Given the description of an element on the screen output the (x, y) to click on. 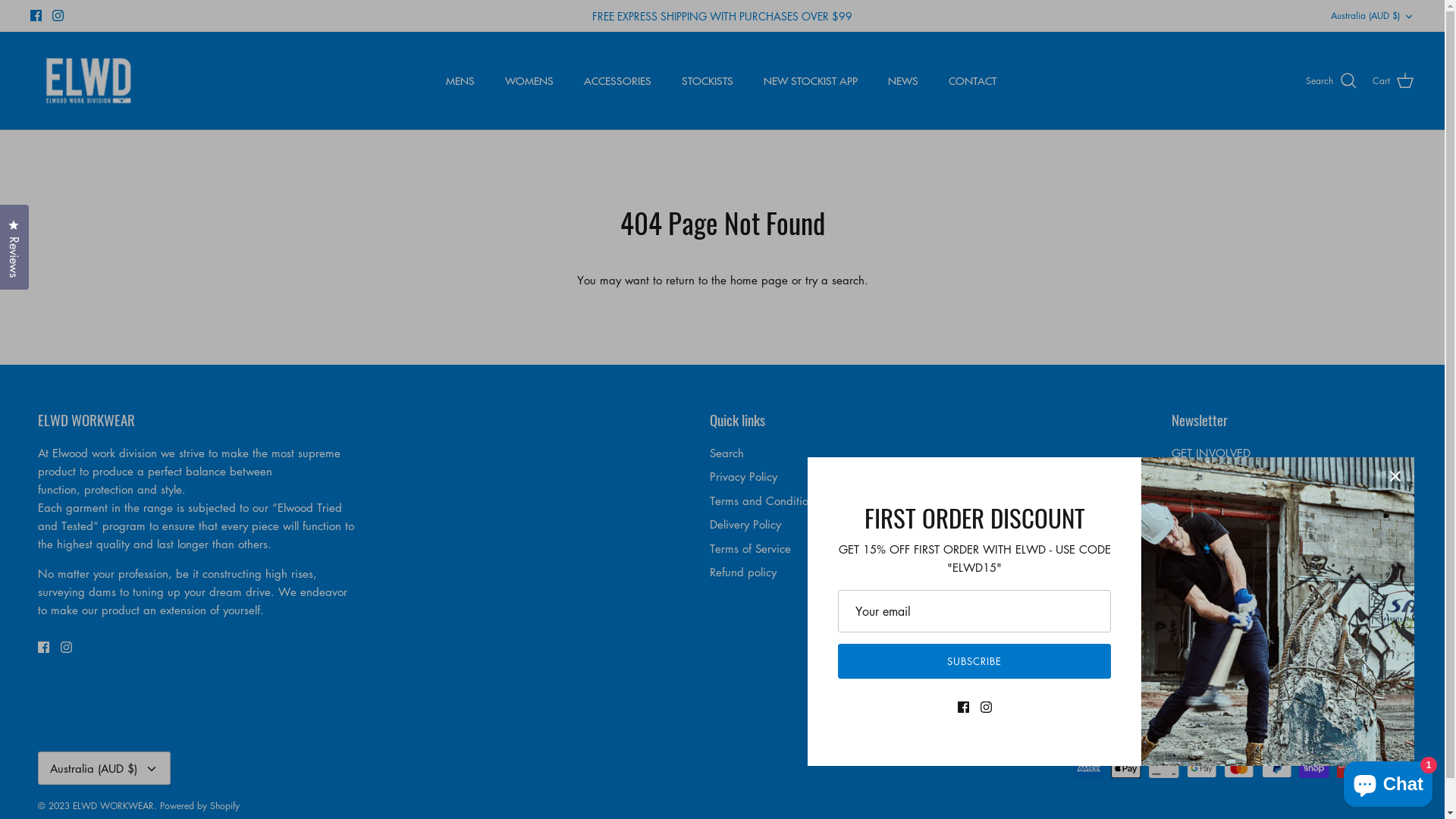
NEW STOCKIST APP Element type: text (810, 80)
Terms and Conditions Element type: text (764, 500)
Refund policy Element type: text (742, 571)
SIGN UP Element type: text (1213, 550)
Instagram Element type: text (57, 15)
try a search Element type: text (834, 279)
ELWD WORKWEAR Element type: hover (88, 81)
Search Element type: text (726, 452)
SUBSCRIBE Element type: text (973, 660)
NEWS Element type: text (902, 80)
ACCESSORIES Element type: text (617, 80)
Powered by Shopify Element type: text (199, 805)
WOMENS Element type: text (529, 80)
Instagram Element type: text (1199, 596)
Cart Element type: text (1393, 81)
STOCKISTS Element type: text (707, 80)
Shopify online store chat Element type: hover (1388, 780)
Facebook Element type: text (1177, 596)
CONTACT Element type: text (972, 80)
Facebook Element type: text (35, 15)
Instagram Element type: text (66, 646)
Search Element type: text (1331, 81)
Australia (AUD $)
Down Element type: text (1372, 15)
MENS Element type: text (460, 80)
home page Element type: text (758, 279)
Privacy Policy Element type: text (743, 475)
Terms of Service Element type: text (749, 547)
Delivery Policy Element type: text (745, 523)
Australia (AUD $)
Down Element type: text (103, 768)
Facebook Element type: text (43, 646)
ELWD WORKWEAR Element type: text (112, 805)
